Given the description of an element on the screen output the (x, y) to click on. 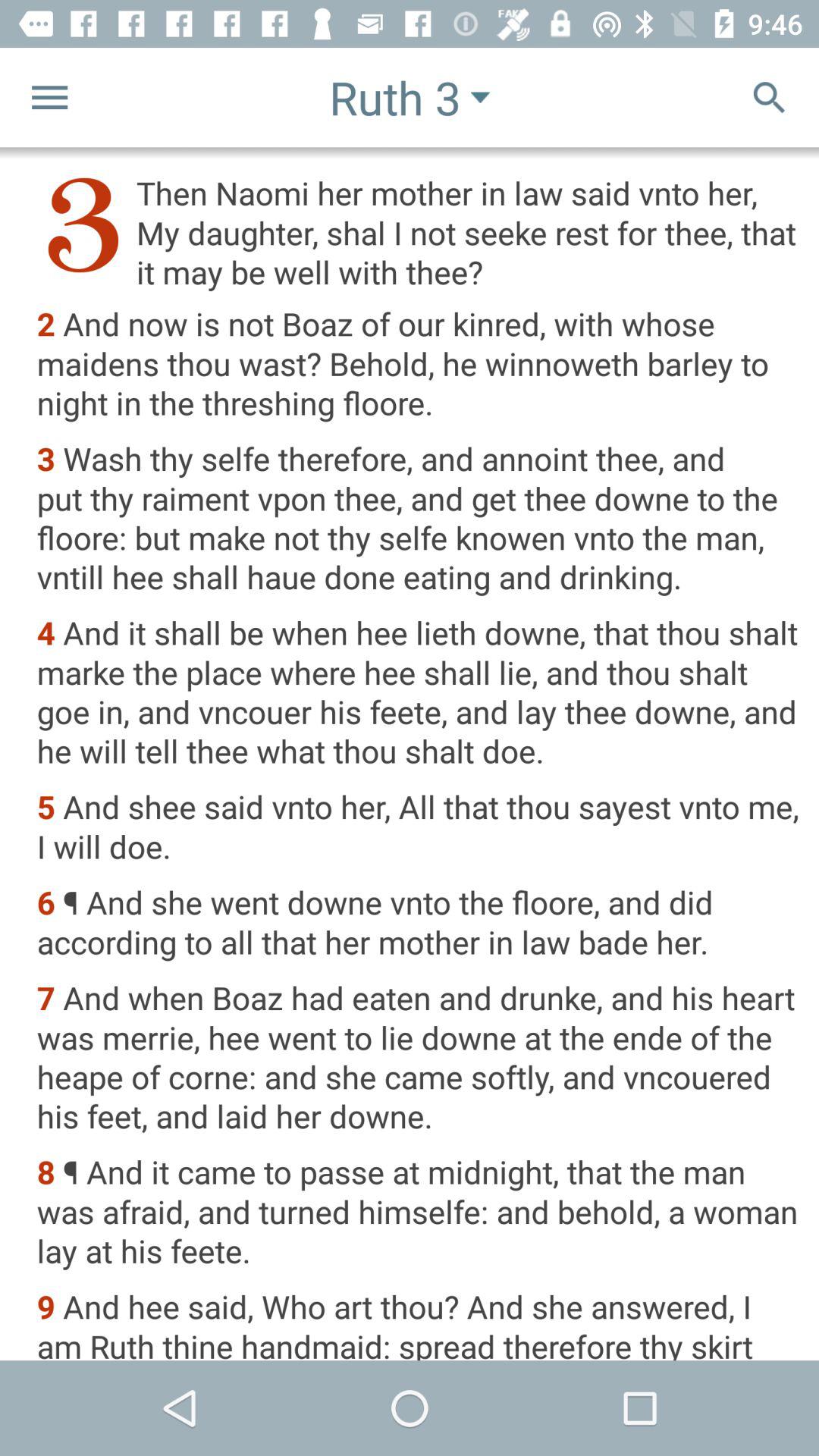
open item above 4 and it item (417, 519)
